Given the description of an element on the screen output the (x, y) to click on. 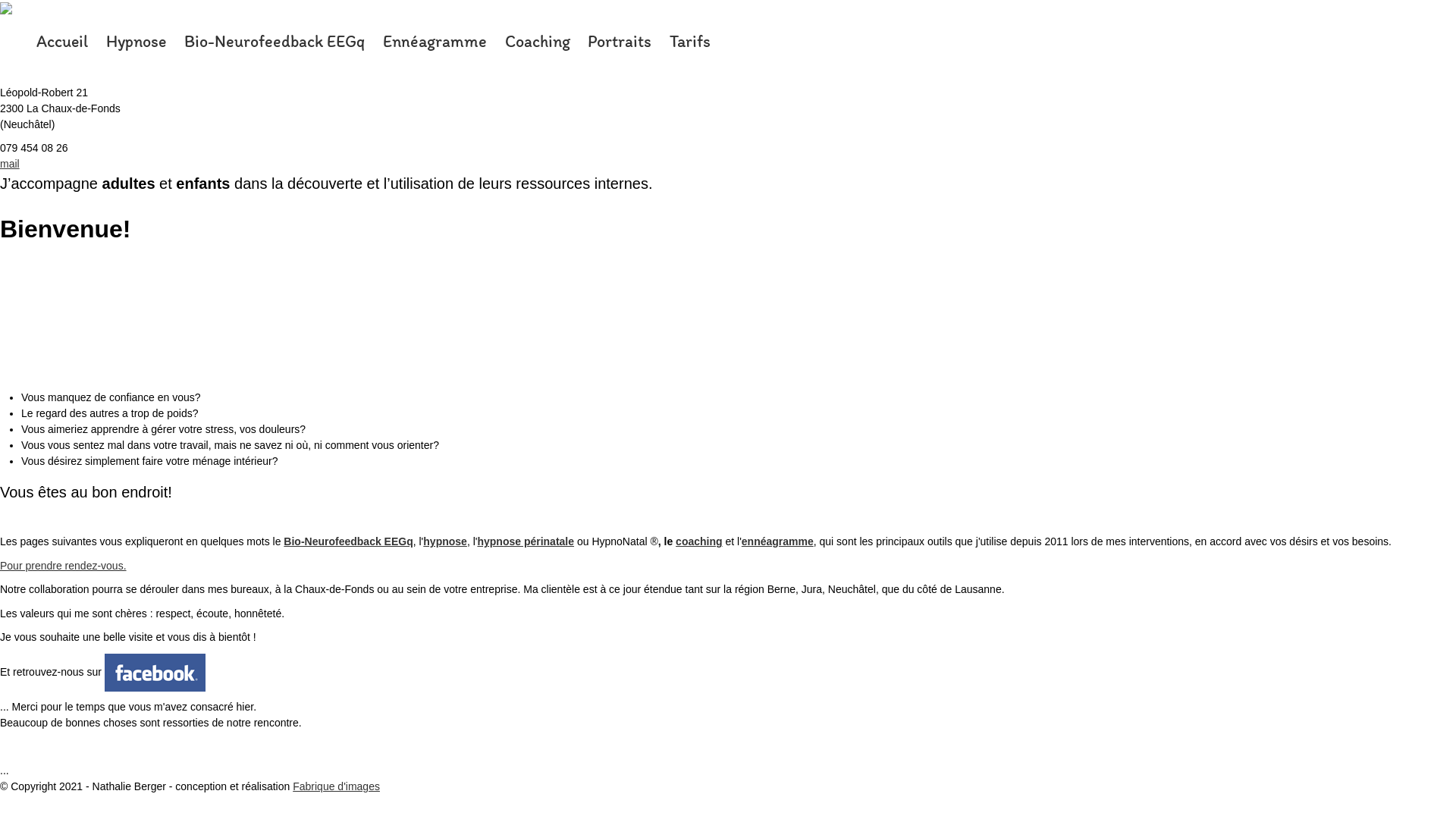
hypnose Element type: text (445, 541)
Portraits Element type: text (619, 39)
Accueil Element type: text (61, 39)
mail Element type: text (9, 163)
coaching Element type: text (698, 541)
Hypnose Element type: text (136, 39)
Fabrique d'images Element type: text (335, 786)
Bio-Neurofeedback EEGq Element type: text (347, 541)
Coaching Element type: text (537, 39)
Tarifs Element type: text (689, 39)
Bio-Neurofeedback EEGq Element type: text (274, 39)
Pour prendre rendez-vous. Element type: text (63, 565)
